Given the description of an element on the screen output the (x, y) to click on. 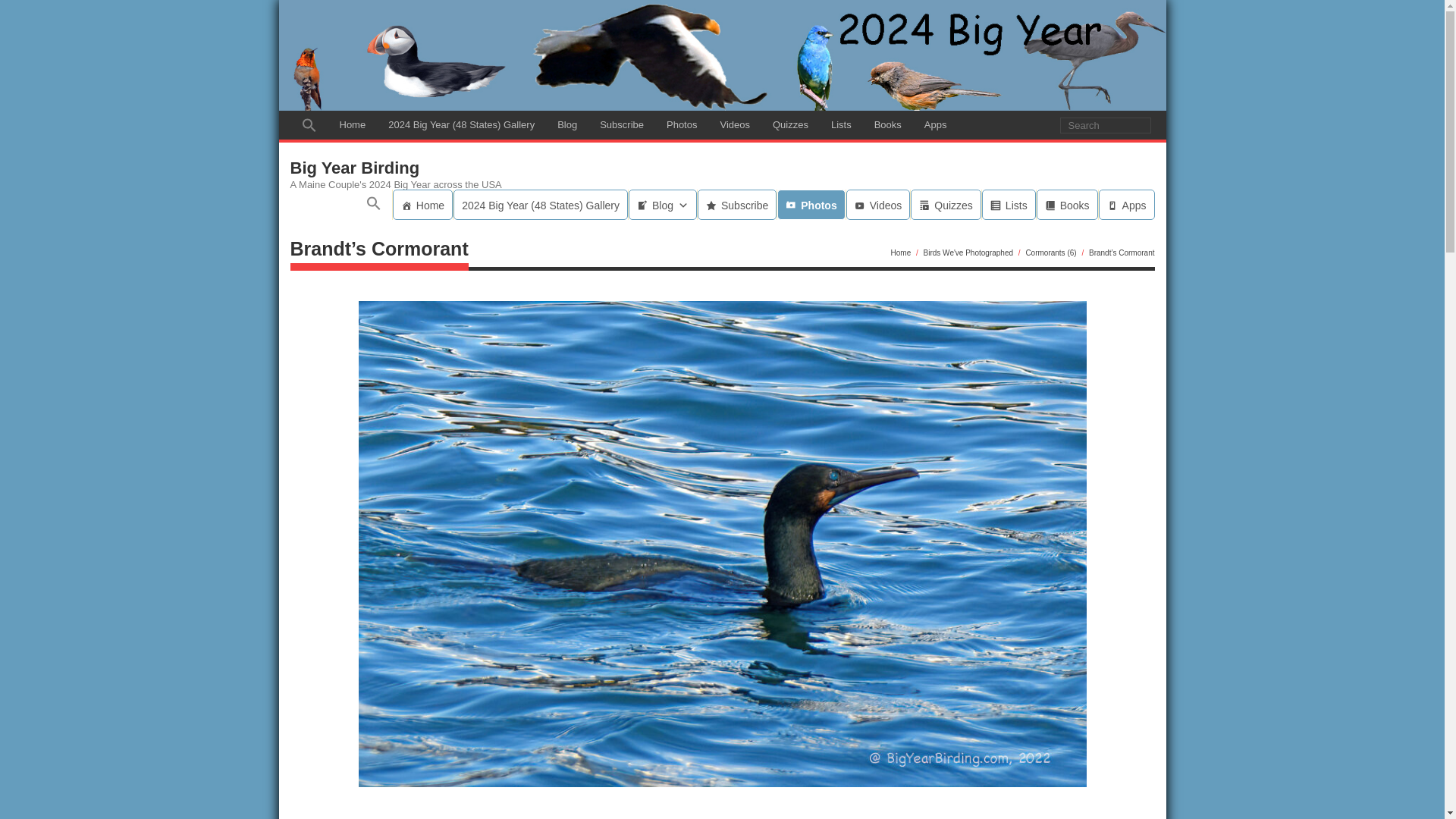
Apps (935, 124)
Videos (734, 124)
Subscribe (736, 204)
Photos (810, 204)
Subscribe (621, 124)
Blog (567, 124)
Home (352, 124)
Home (422, 204)
Big Year Birding (394, 168)
